Given the description of an element on the screen output the (x, y) to click on. 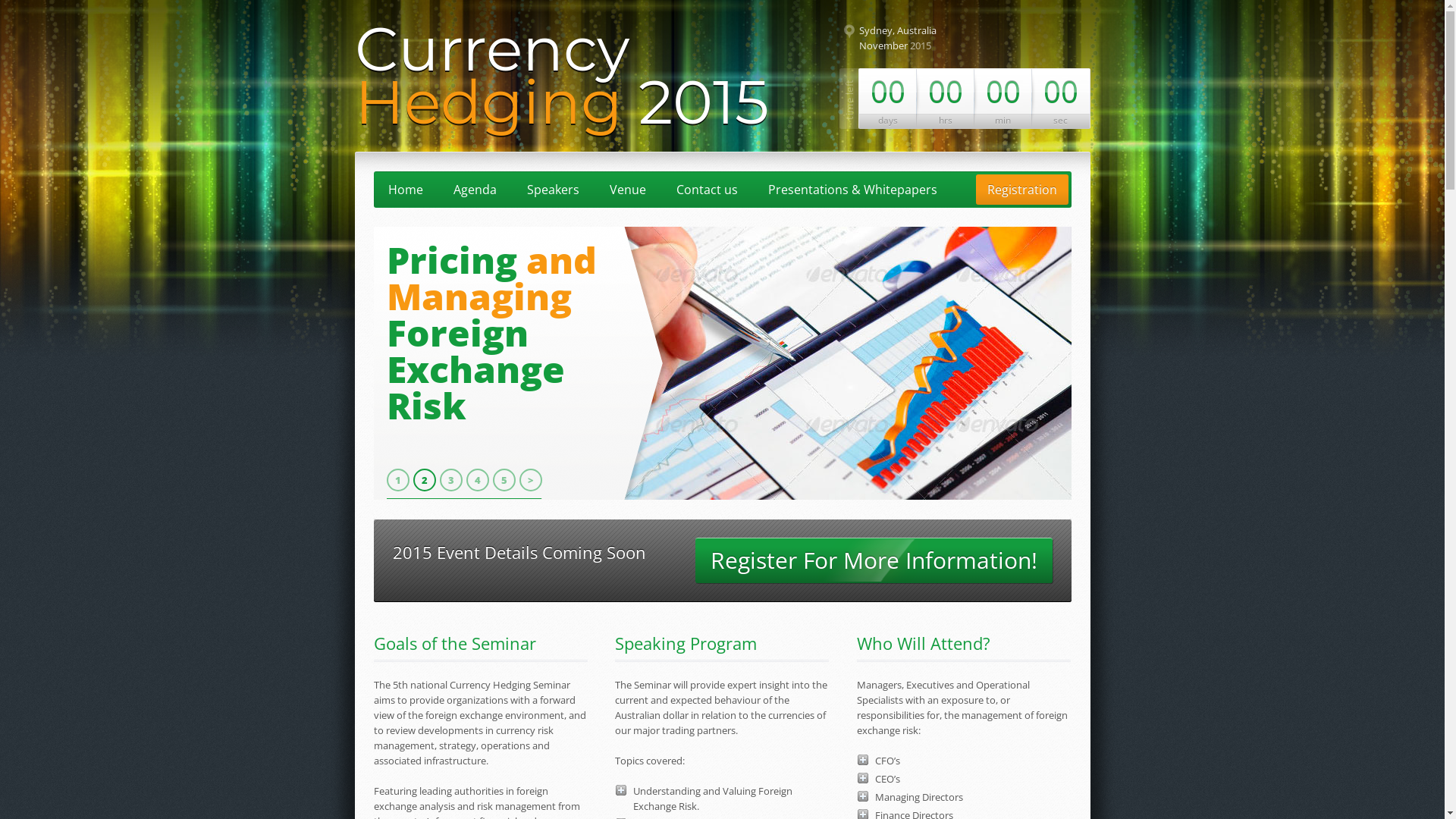
Registration Element type: text (1021, 189)
Currency Hedging 2015 Element type: text (561, 75)
Home Element type: text (404, 189)
Register For More Information! Element type: text (872, 560)
3 Element type: text (450, 479)
1 Element type: text (397, 479)
5 Element type: text (503, 479)
Agenda Element type: text (474, 189)
2 Element type: text (423, 479)
4 Element type: text (476, 479)
Venue Element type: text (626, 189)
Presentations & Whitepapers Element type: text (852, 189)
> Element type: text (529, 479)
Sydney, Australia
November 2015 Element type: text (945, 37)
Contact us Element type: text (706, 189)
Speakers Element type: text (552, 189)
